Given the description of an element on the screen output the (x, y) to click on. 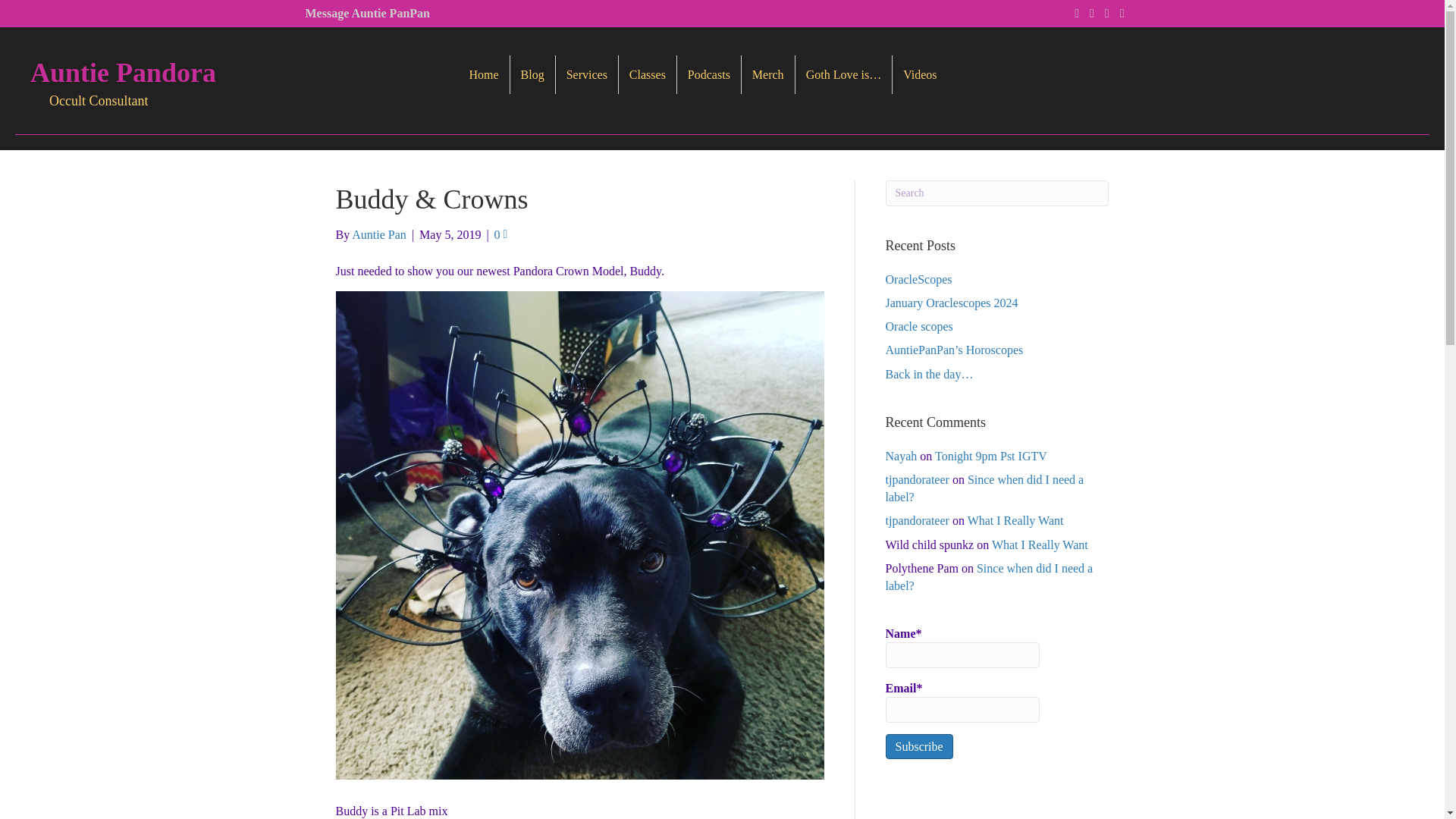
Merch (767, 74)
Services (586, 74)
Podcasts (709, 74)
Type and press Enter to search. (997, 193)
Auntie Pan (379, 234)
Classes (647, 74)
Auntie Pandora (122, 72)
Subscribe (919, 746)
Blog (532, 74)
Videos (919, 74)
Auntie Pandora (122, 72)
Home (483, 74)
Message Auntie PanPan (366, 12)
0 (501, 234)
